Given the description of an element on the screen output the (x, y) to click on. 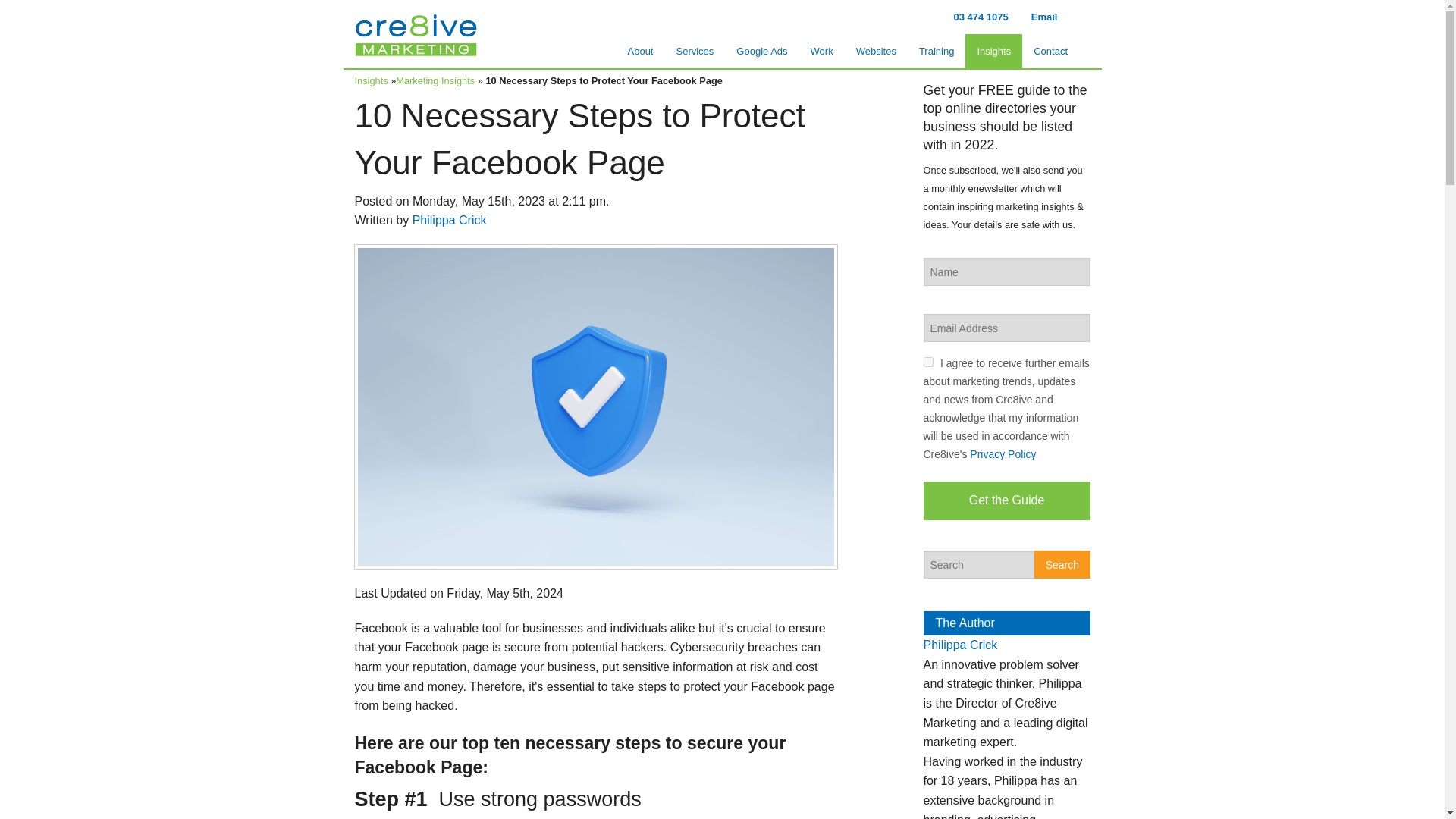
Privacy Policy (1002, 453)
Email (1044, 17)
Marketing Insights (435, 80)
Get Your FREE Online Directory Guide (911, 722)
Contact (1050, 50)
Work (821, 50)
Google Ads (761, 50)
Search (1061, 564)
Philippa Crick (960, 644)
Insights (993, 50)
Services (694, 50)
Websites (875, 50)
agree (928, 361)
03 474 1075 (980, 17)
Training (936, 50)
